Given the description of an element on the screen output the (x, y) to click on. 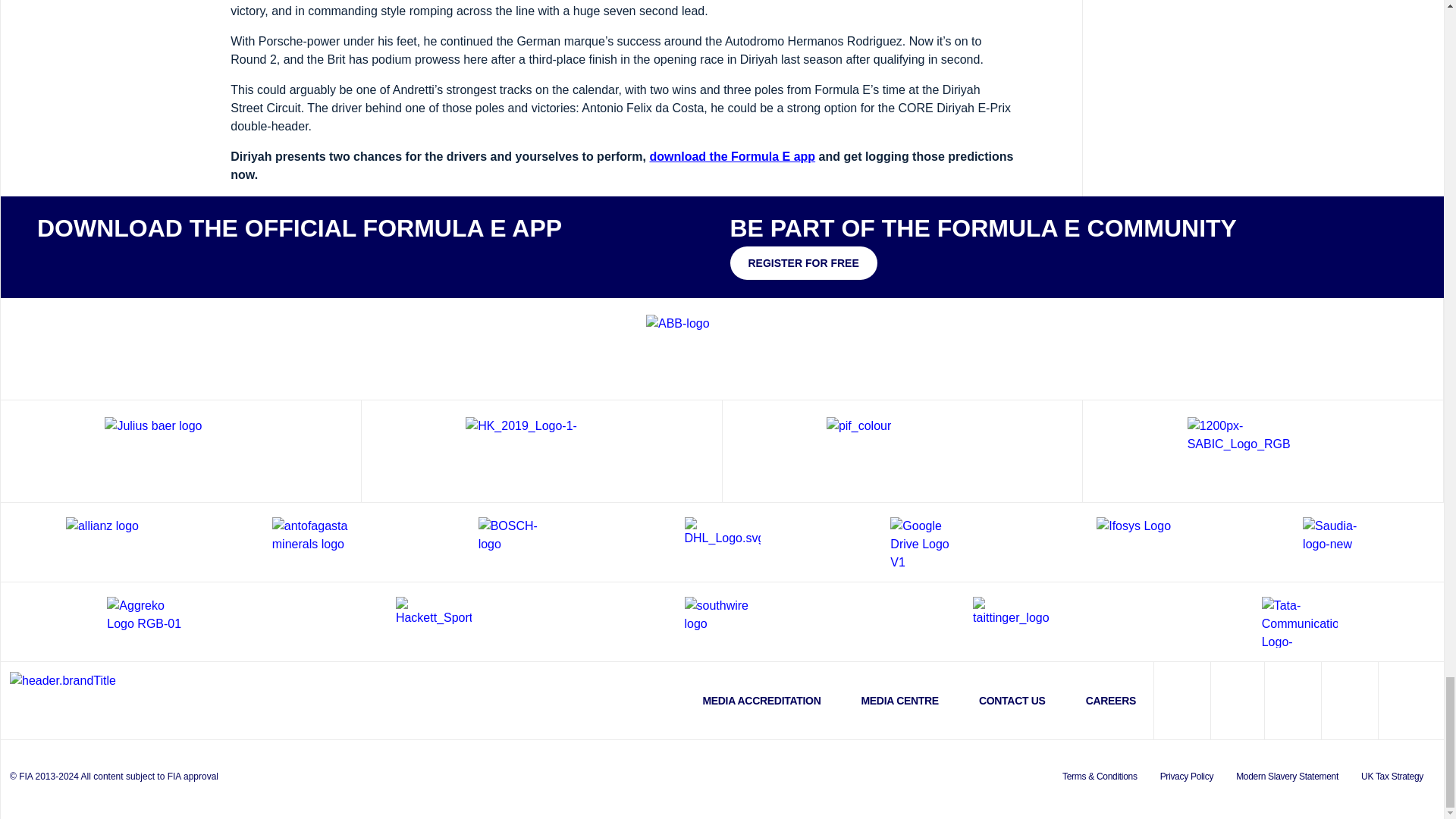
Public Investment Fund (902, 450)
Title Partner (721, 348)
Visit the App Store (81, 260)
Technical Partner (541, 450)
Register for free (802, 263)
Visit the Google Play Store (175, 260)
Global Partner (180, 450)
